Given the description of an element on the screen output the (x, y) to click on. 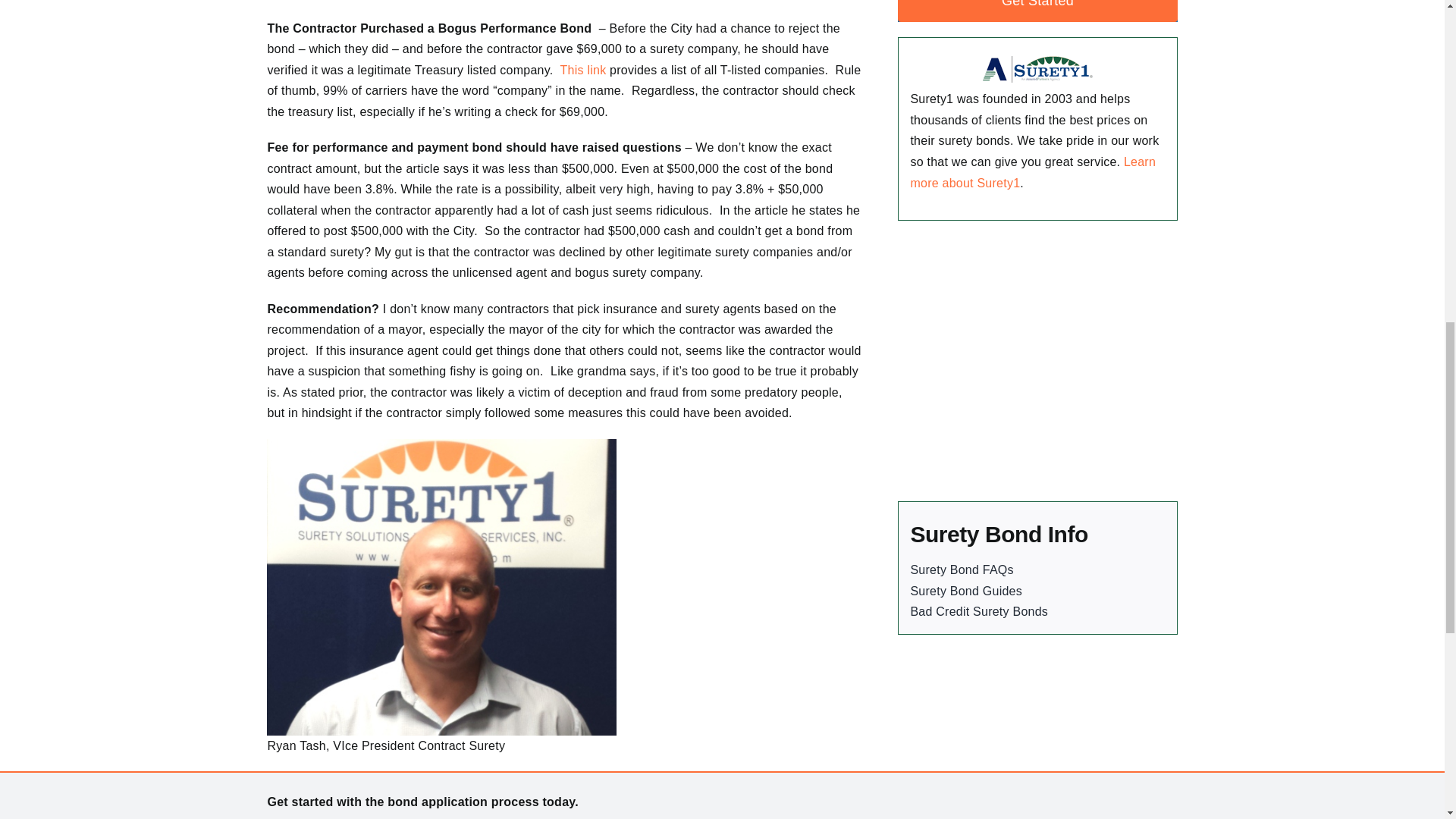
Customer reviews powered by Trustpilot (1037, 368)
logo-sidebar-145 (1037, 68)
Approved Surety Companies (585, 69)
Ryan Tash, Contract Surety Professional (440, 586)
